Given the description of an element on the screen output the (x, y) to click on. 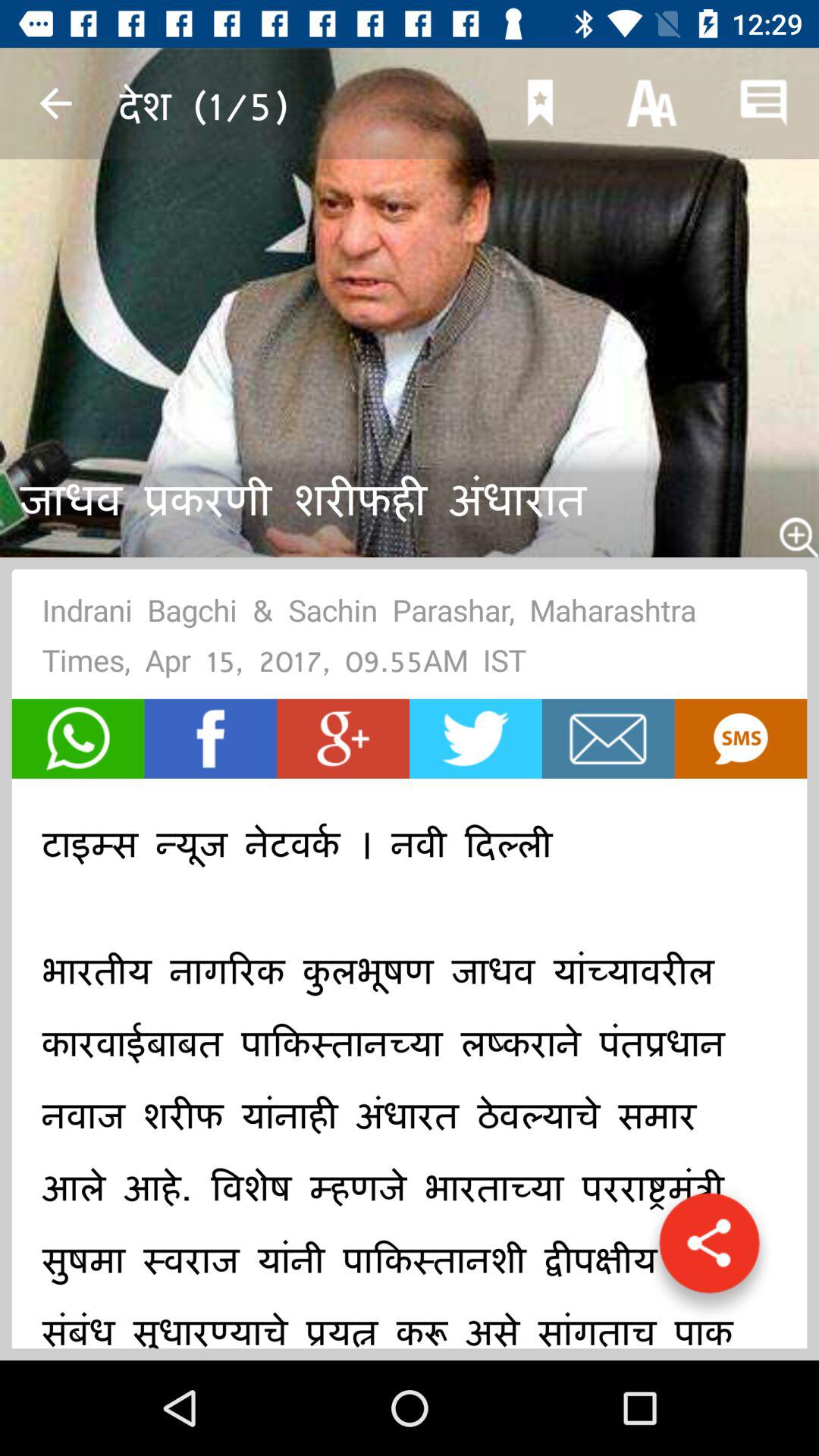
open the item at the bottom right corner (709, 1250)
